Given the description of an element on the screen output the (x, y) to click on. 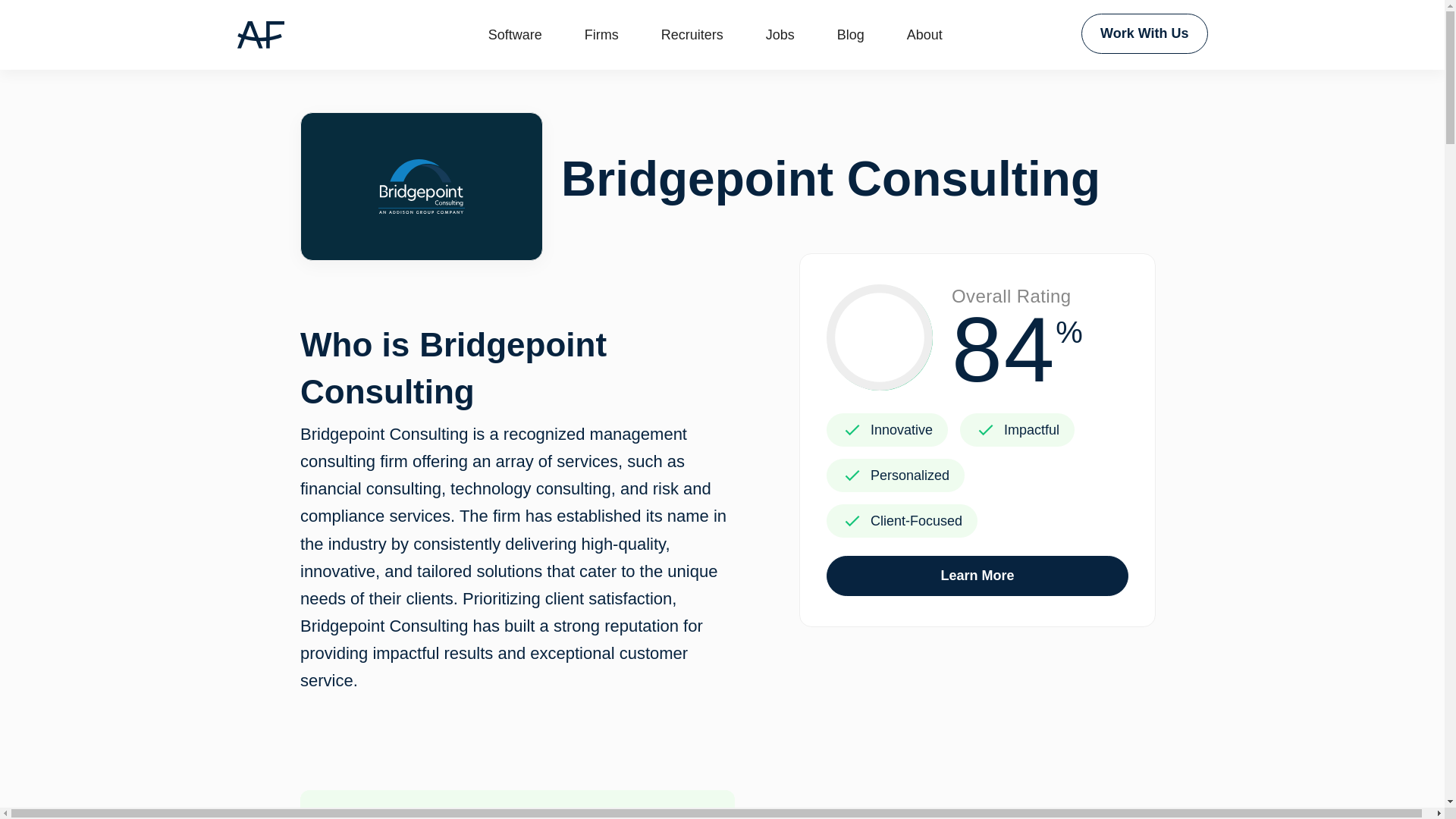
Learn More (977, 576)
Software (514, 34)
Recruiters (692, 34)
Work With Us (1144, 33)
